Given the description of an element on the screen output the (x, y) to click on. 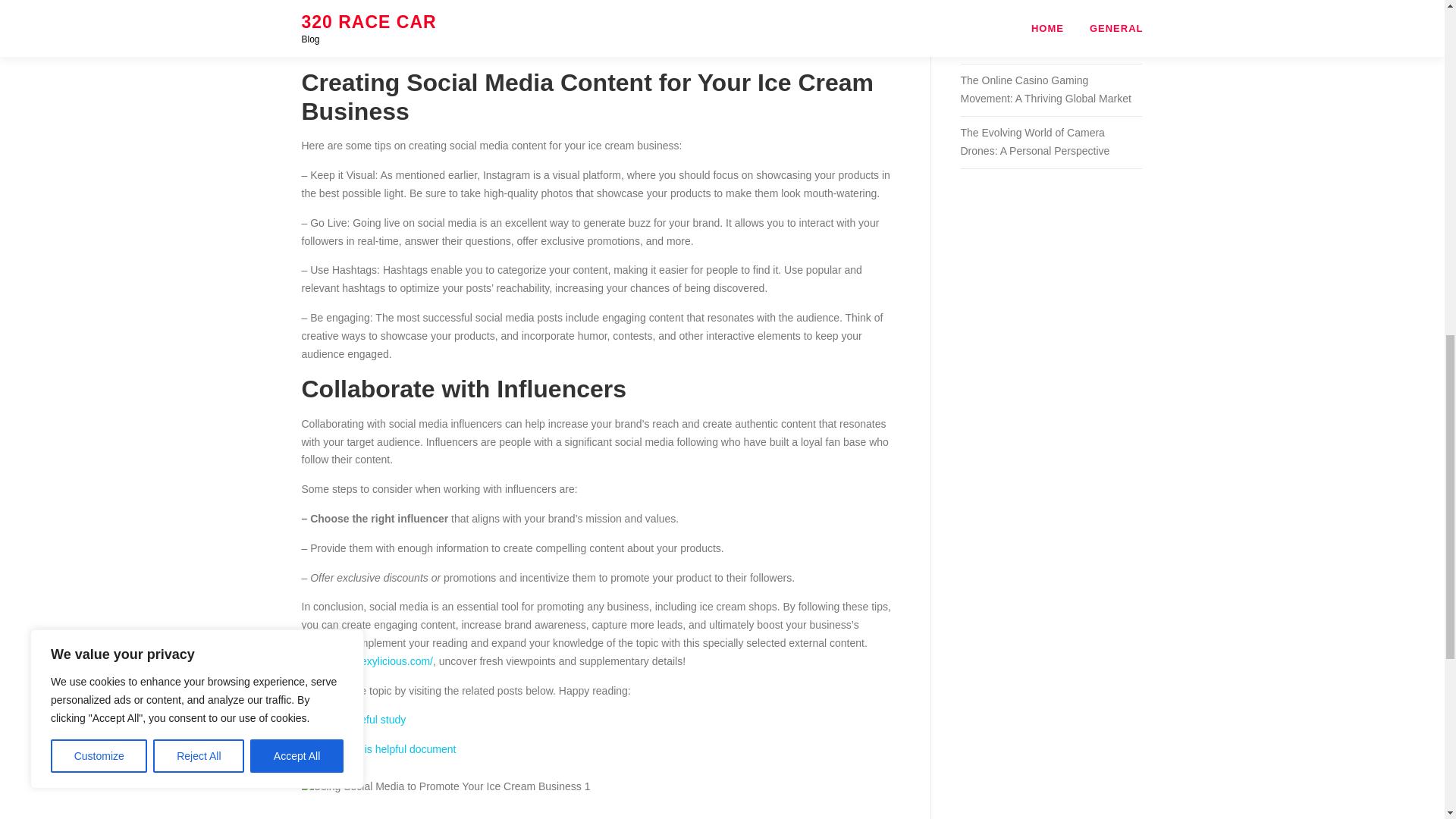
Read this useful study (353, 719)
Learn from this helpful document (379, 748)
